Given the description of an element on the screen output the (x, y) to click on. 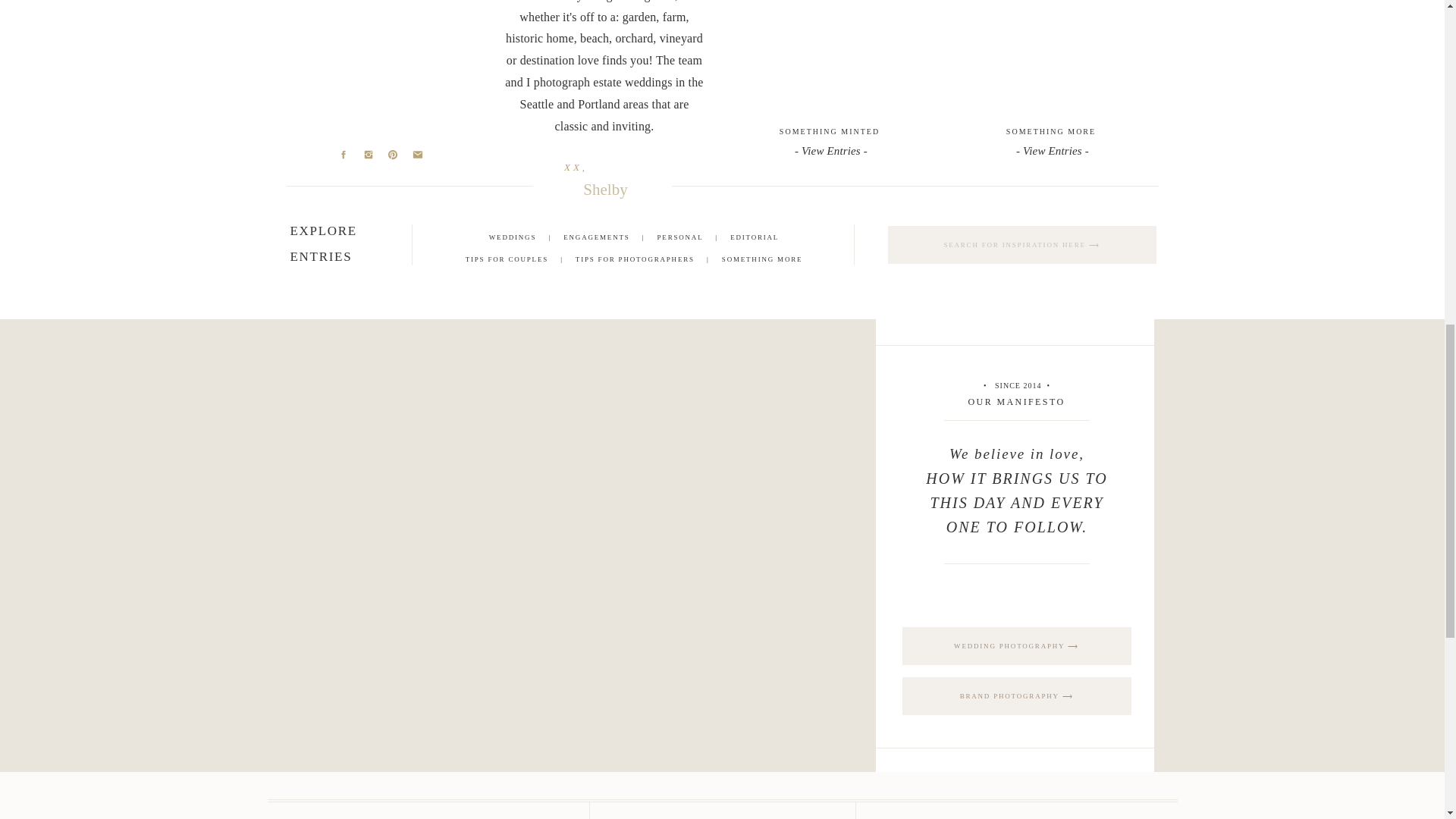
EDITORIAL (754, 236)
Post Comment (424, 100)
Post Comment (424, 100)
TIPS FOR PHOTOGRAPHERS (634, 258)
TIPS FOR COUPLES (506, 258)
SOMETHING MORE (1051, 131)
PERSONAL (680, 236)
 - View Entries - (1051, 148)
ENGAGEMENTS (595, 236)
WEDDINGS (512, 236)
